Given the description of an element on the screen output the (x, y) to click on. 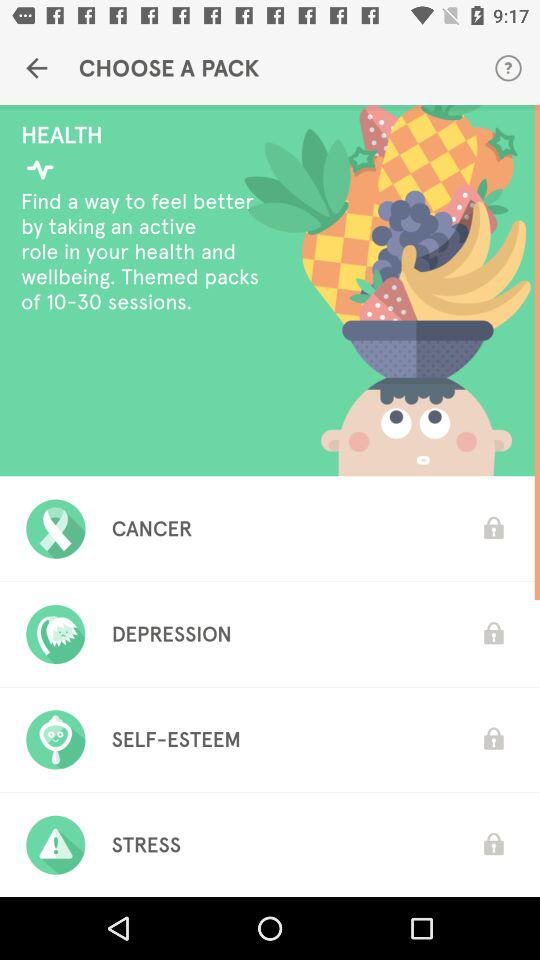
scroll to self-esteem (176, 739)
